Given the description of an element on the screen output the (x, y) to click on. 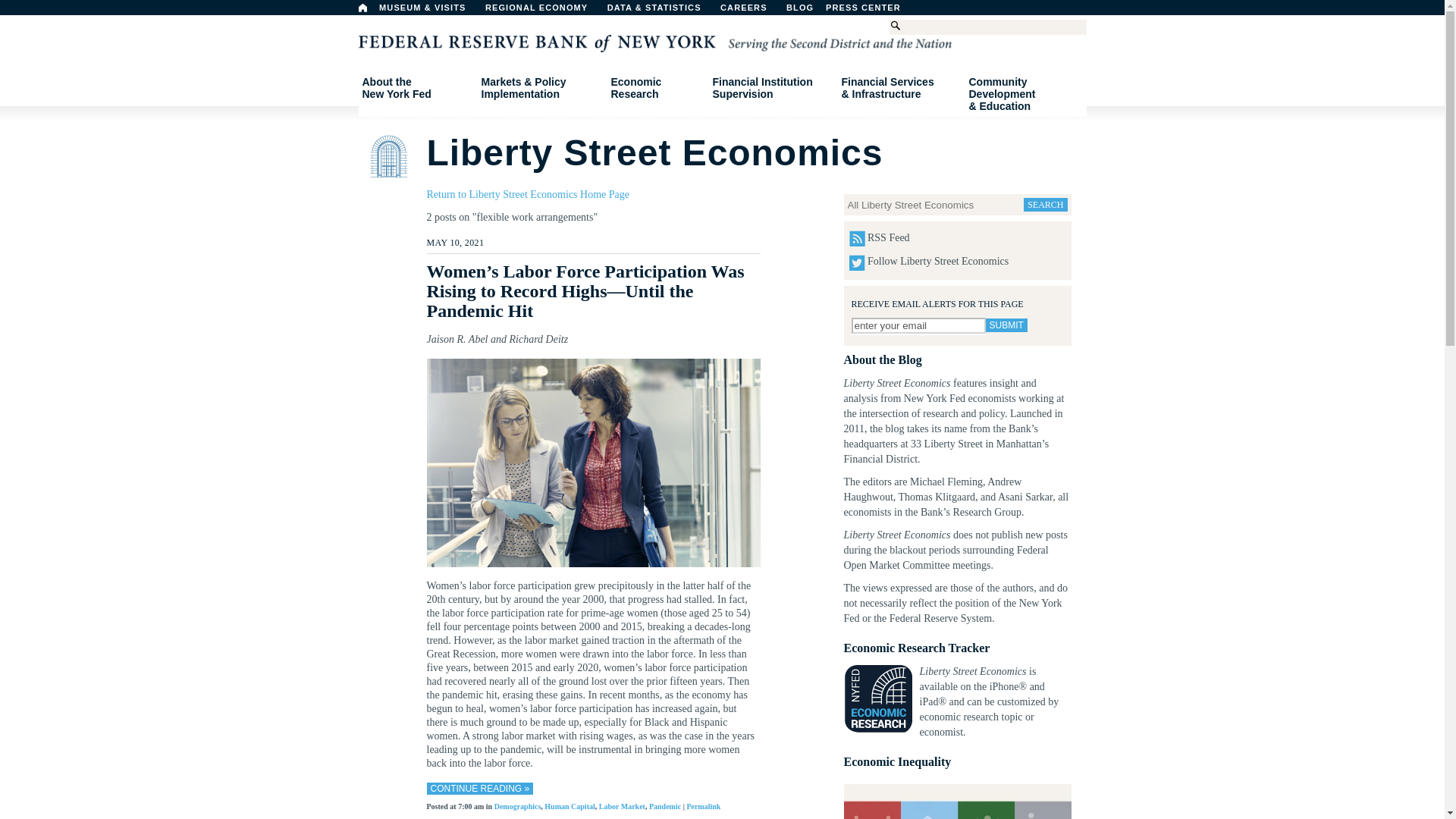
enter your email (917, 325)
Home (362, 8)
PRESS CENTER (870, 11)
Submit (1006, 325)
BLOG (839, 11)
REGIONAL ECONOMY (543, 11)
CAREERS (751, 11)
